Given the description of an element on the screen output the (x, y) to click on. 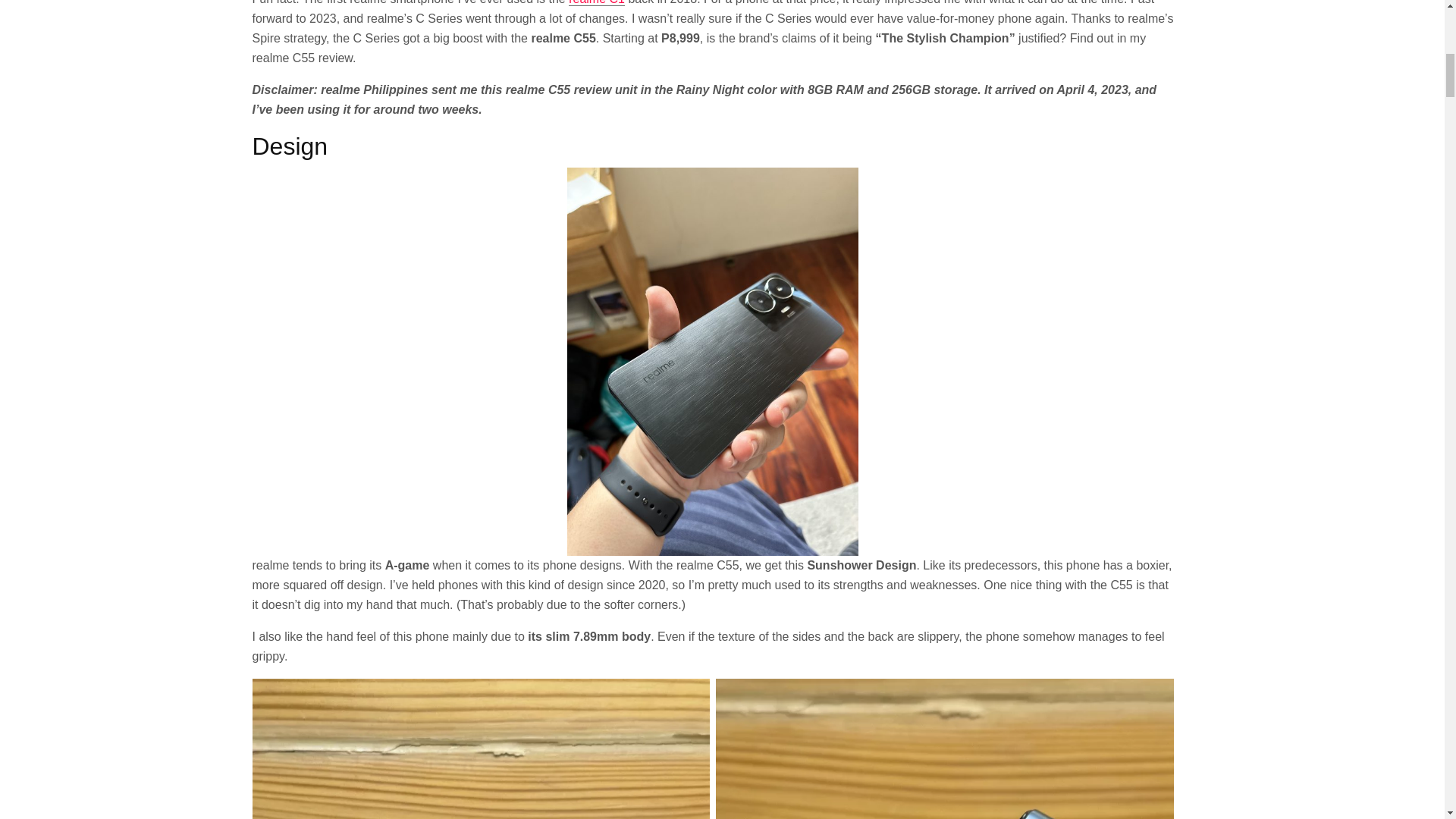
realme C1 (596, 2)
